Given the description of an element on the screen output the (x, y) to click on. 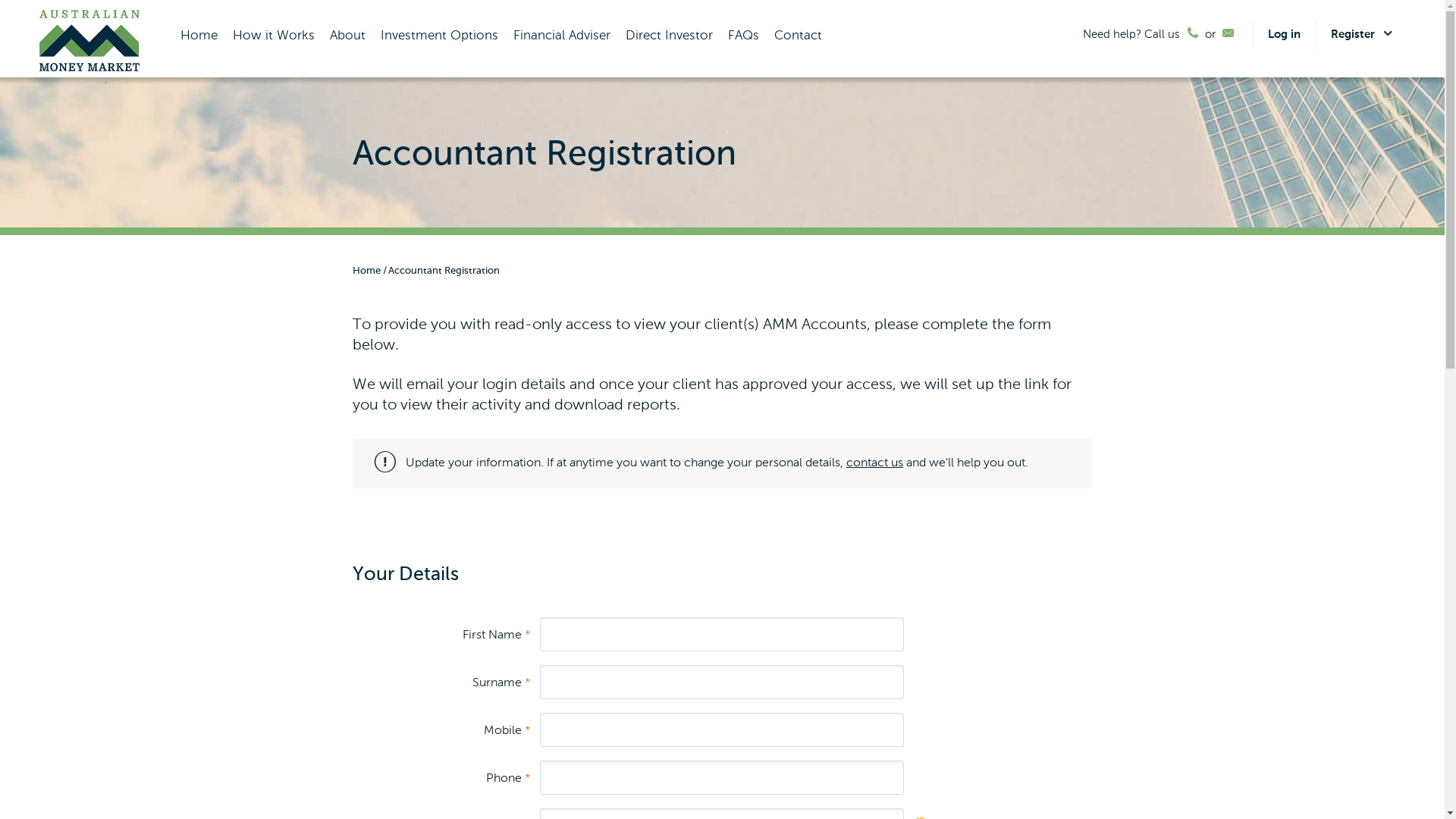
Home Element type: text (198, 35)
About Element type: text (346, 35)
1300 306 281 Element type: hover (1192, 33)
contact us Element type: text (874, 463)
Contact Element type: text (797, 35)
Log in Element type: text (1283, 34)
Investment Options Element type: text (439, 35)
admin@moneymarket.com.au Element type: hover (1227, 33)
How it Works Element type: text (272, 35)
Home Element type: text (366, 271)
Direct Investor Element type: text (668, 35)
Financial Adviser Element type: text (560, 35)
FAQs Element type: text (743, 35)
